Given the description of an element on the screen output the (x, y) to click on. 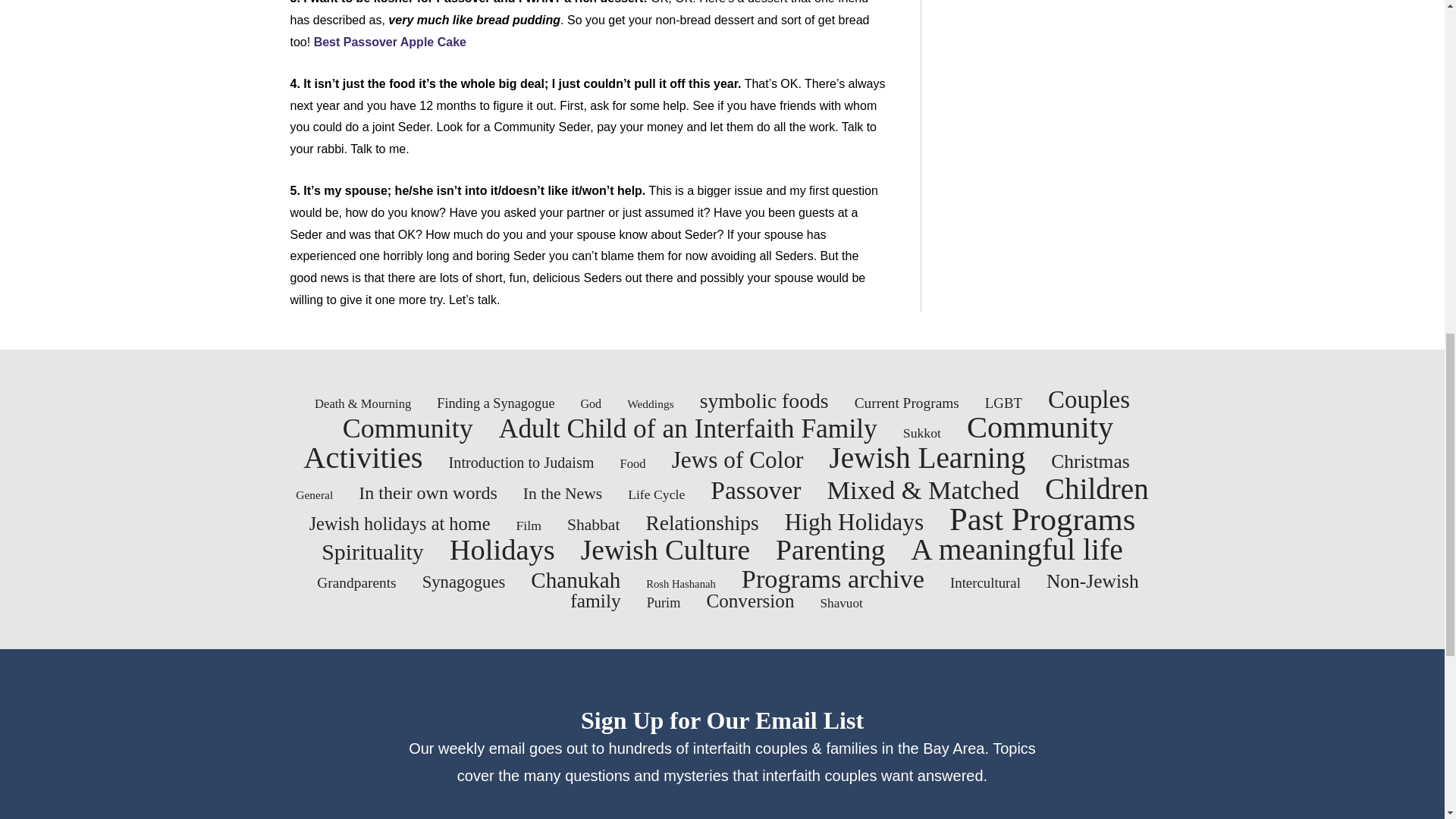
Couples (1088, 399)
symbolic foods (764, 400)
Food (633, 463)
Weddings (650, 403)
God (590, 403)
Introduction to Judaism (521, 462)
Sukkot (921, 432)
Adult Child of an Interfaith Family (688, 428)
Best Passover Apple Cake (389, 42)
LGBT (1003, 402)
Finding a Synagogue (495, 403)
Community (407, 428)
Current Programs (906, 402)
Community Activities (707, 442)
